Given the description of an element on the screen output the (x, y) to click on. 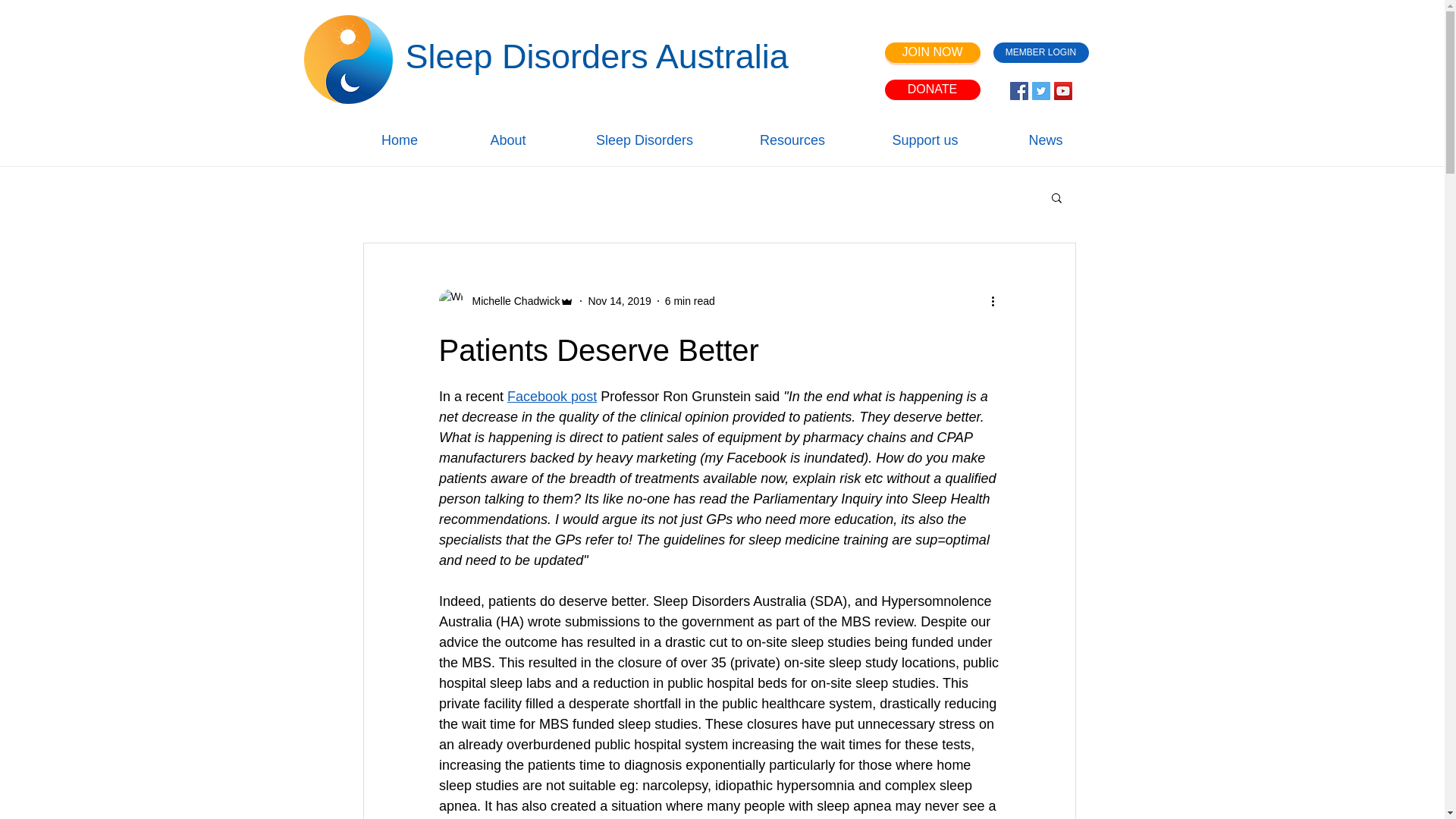
Michelle Chadwick (511, 300)
JOIN NOW (931, 52)
Home (400, 139)
About (507, 139)
Facebook post (551, 396)
Michelle Chadwick (505, 300)
Nov 14, 2019 (619, 300)
Support us (925, 139)
6 min read (689, 300)
DONATE (931, 89)
News (1045, 139)
MEMBER LOGIN (1040, 52)
